Given the description of an element on the screen output the (x, y) to click on. 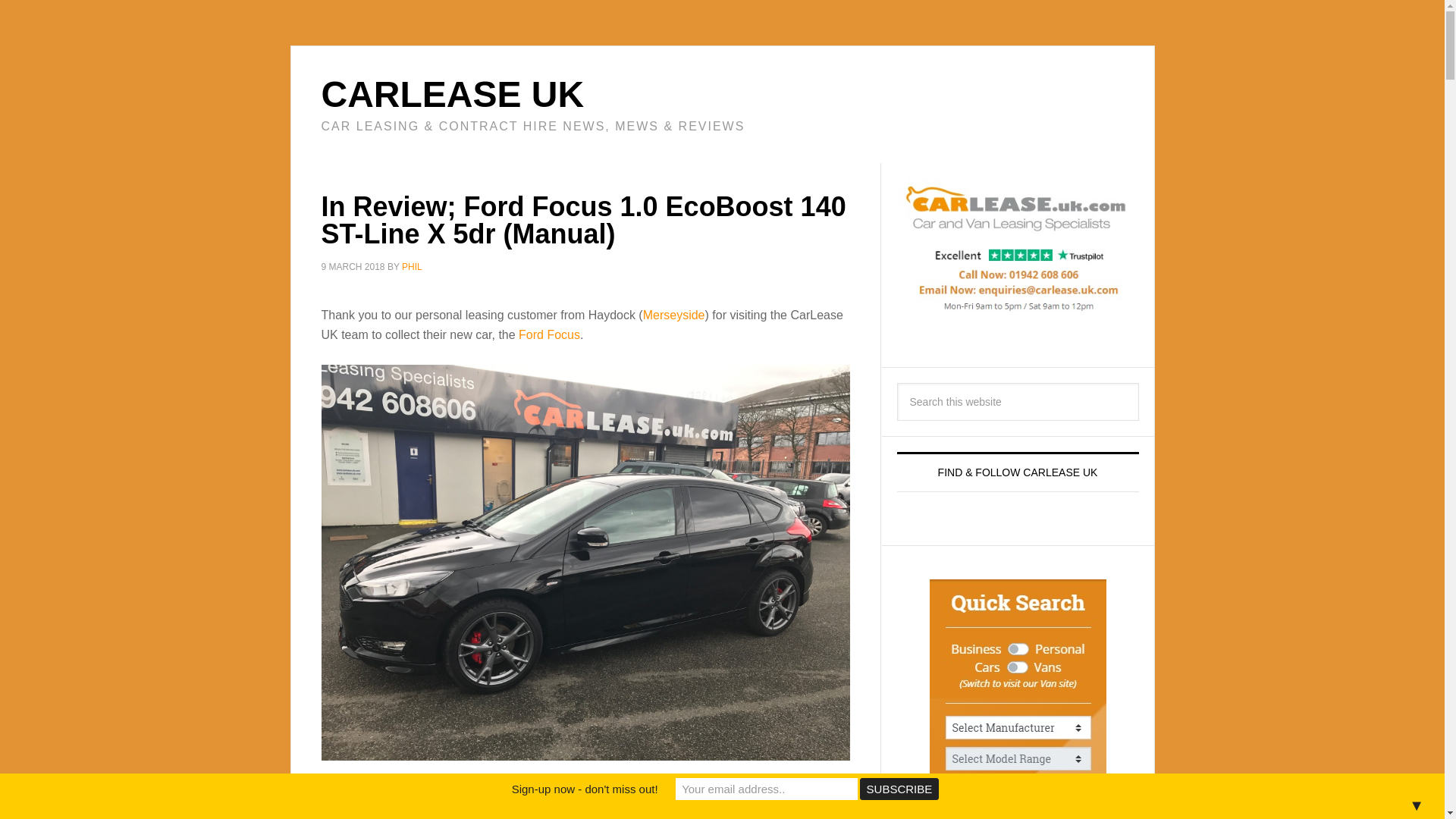
Ford Focus (548, 333)
CARLEASE UK (453, 94)
Ford (666, 789)
Merseyside (673, 314)
Subscribe (899, 789)
PHIL (411, 266)
